Given the description of an element on the screen output the (x, y) to click on. 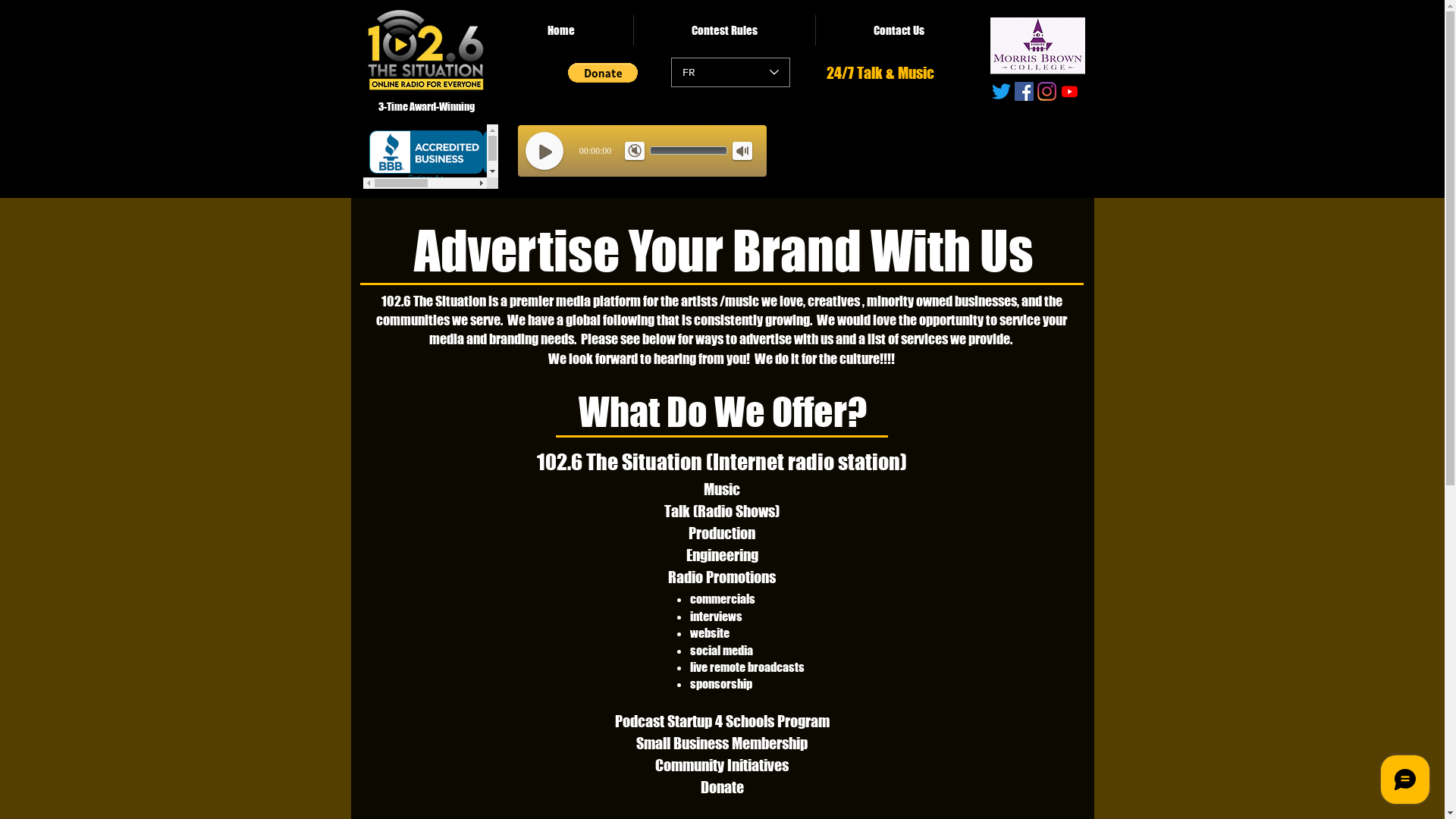
Embedded Content Element type: hover (429, 156)
Contest Rules Element type: text (724, 30)
Home Element type: text (561, 30)
Contact Us Element type: text (898, 30)
Embedded Content Element type: hover (750, 153)
